Given the description of an element on the screen output the (x, y) to click on. 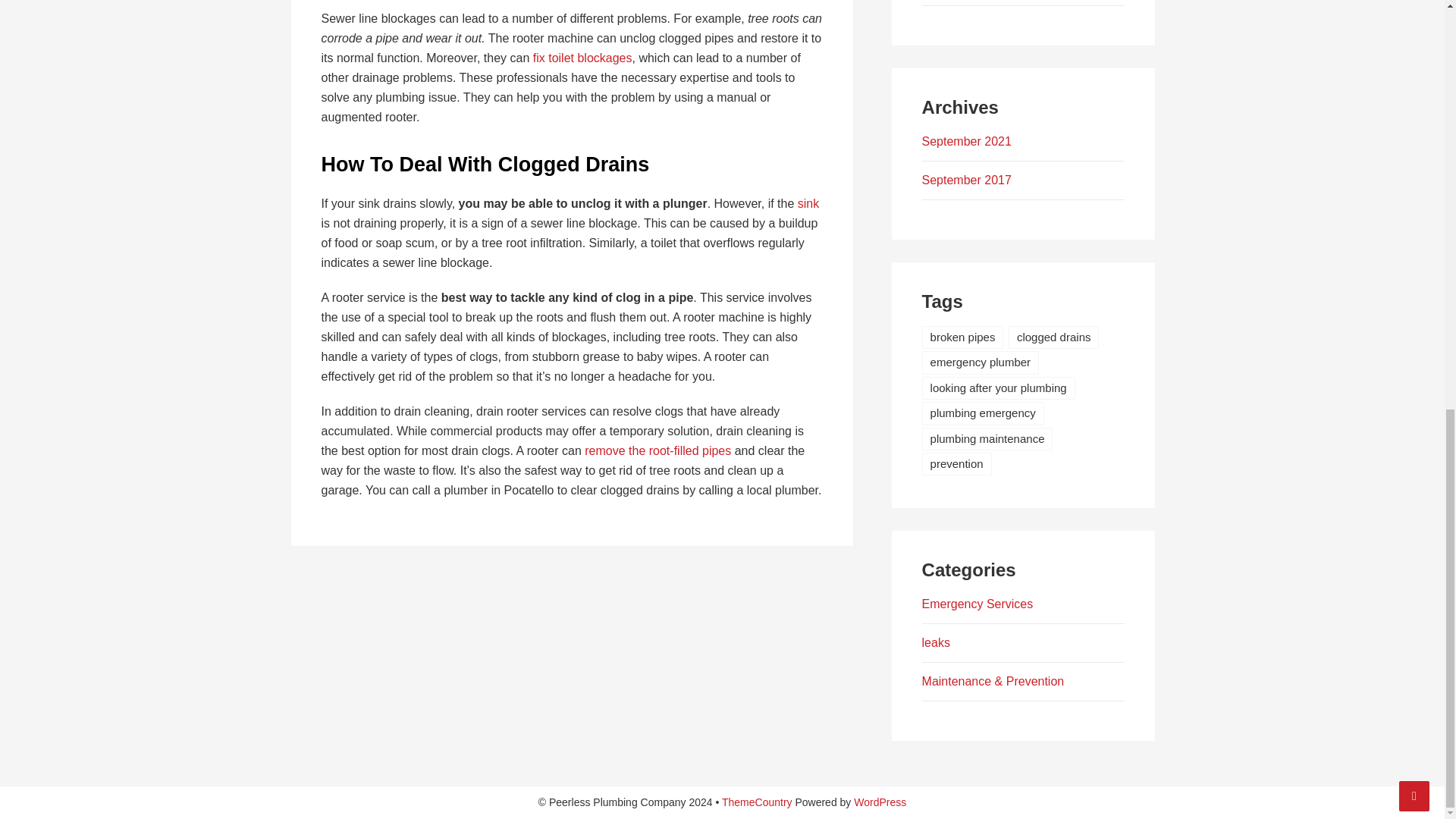
sink (807, 203)
remove the root-filled pipes (657, 450)
BasePress - The best free WordPress blog theme for WordPress (757, 802)
broken pipes (962, 336)
fix toilet blockages (581, 57)
September 2017 (966, 179)
September 2021 (966, 141)
